Given the description of an element on the screen output the (x, y) to click on. 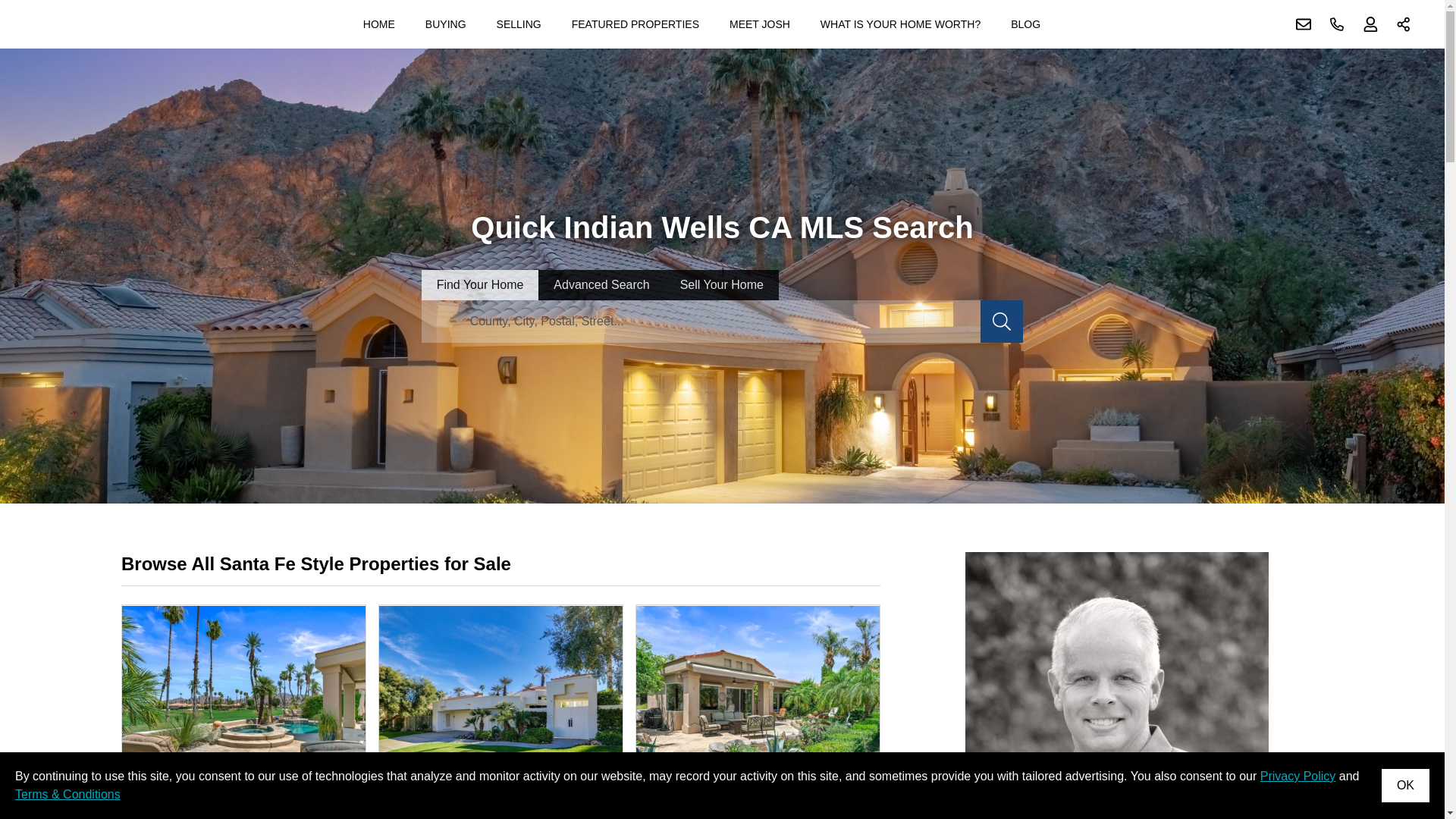
Share (1404, 23)
Phone number (1337, 23)
Contact us (1303, 23)
SELLING (518, 24)
Sign up or Sign in (1370, 23)
HOME (378, 24)
FEATURED PROPERTIES (634, 24)
BLOG (1025, 24)
MEET JOSH (759, 24)
Josh Devane - Equity Union Logo (74, 24)
BUYING (446, 24)
WHAT IS YOUR HOME WORTH? (900, 24)
